Given the description of an element on the screen output the (x, y) to click on. 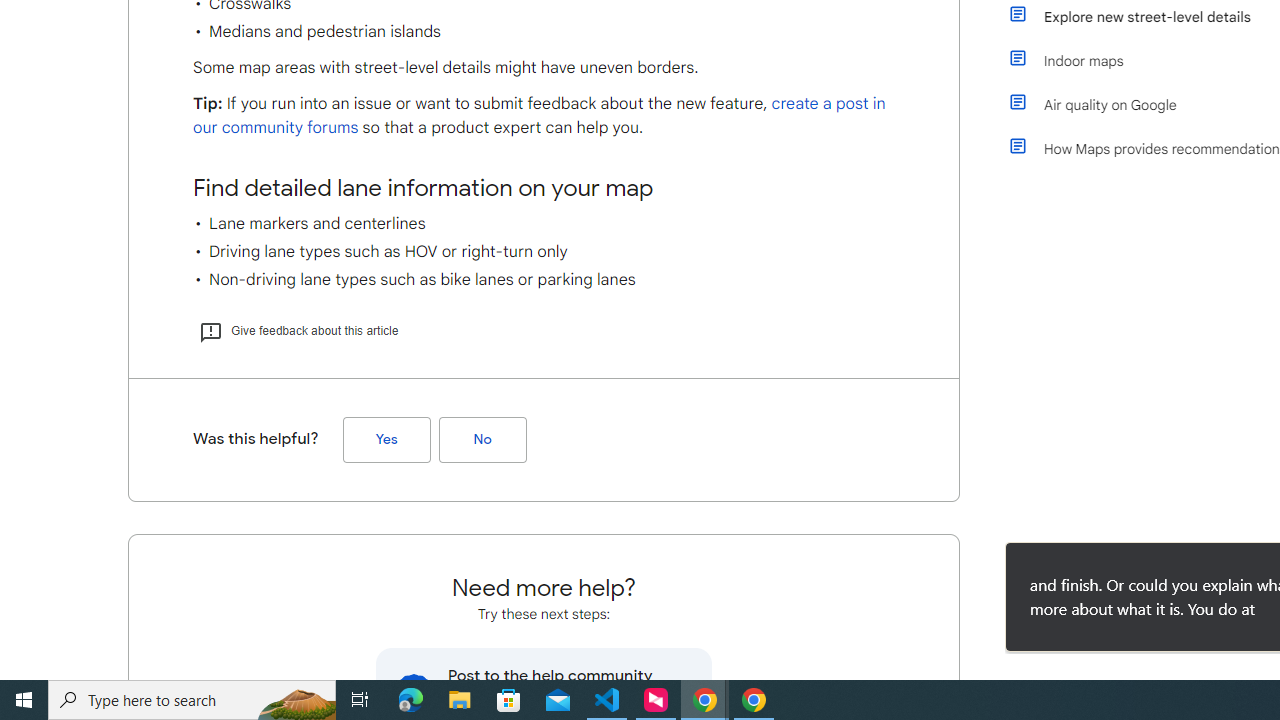
Yes (Was this helpful?) (386, 439)
Driving lane types such as HOV or right-turn only (543, 251)
Give feedback about this article (298, 330)
Non-driving lane types such as bike lanes or parking lanes (543, 279)
Lane markers and centerlines (543, 223)
Find detailed lane information on your map (543, 187)
No (Was this helpful?) (482, 439)
Medians and pedestrian islands (543, 31)
